Given the description of an element on the screen output the (x, y) to click on. 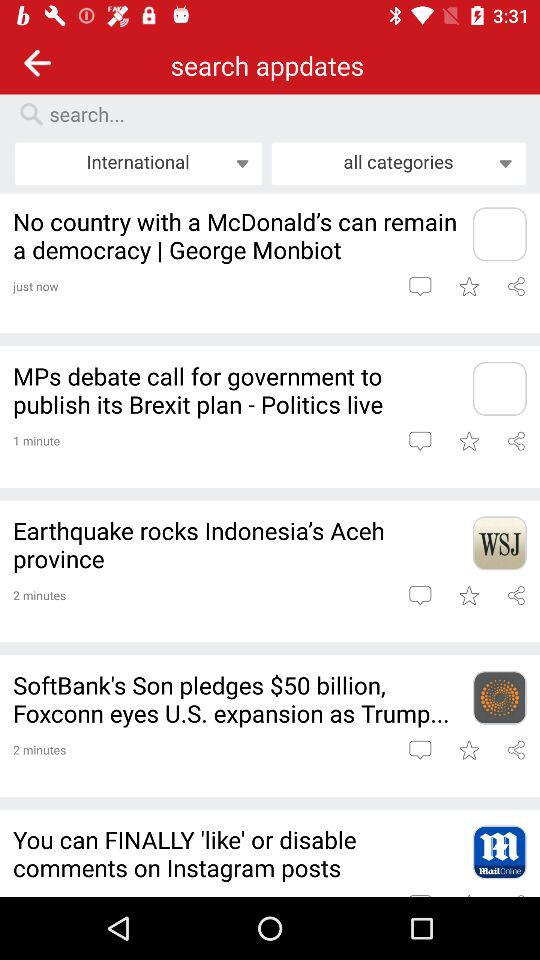
nark as favorite (468, 595)
